Given the description of an element on the screen output the (x, y) to click on. 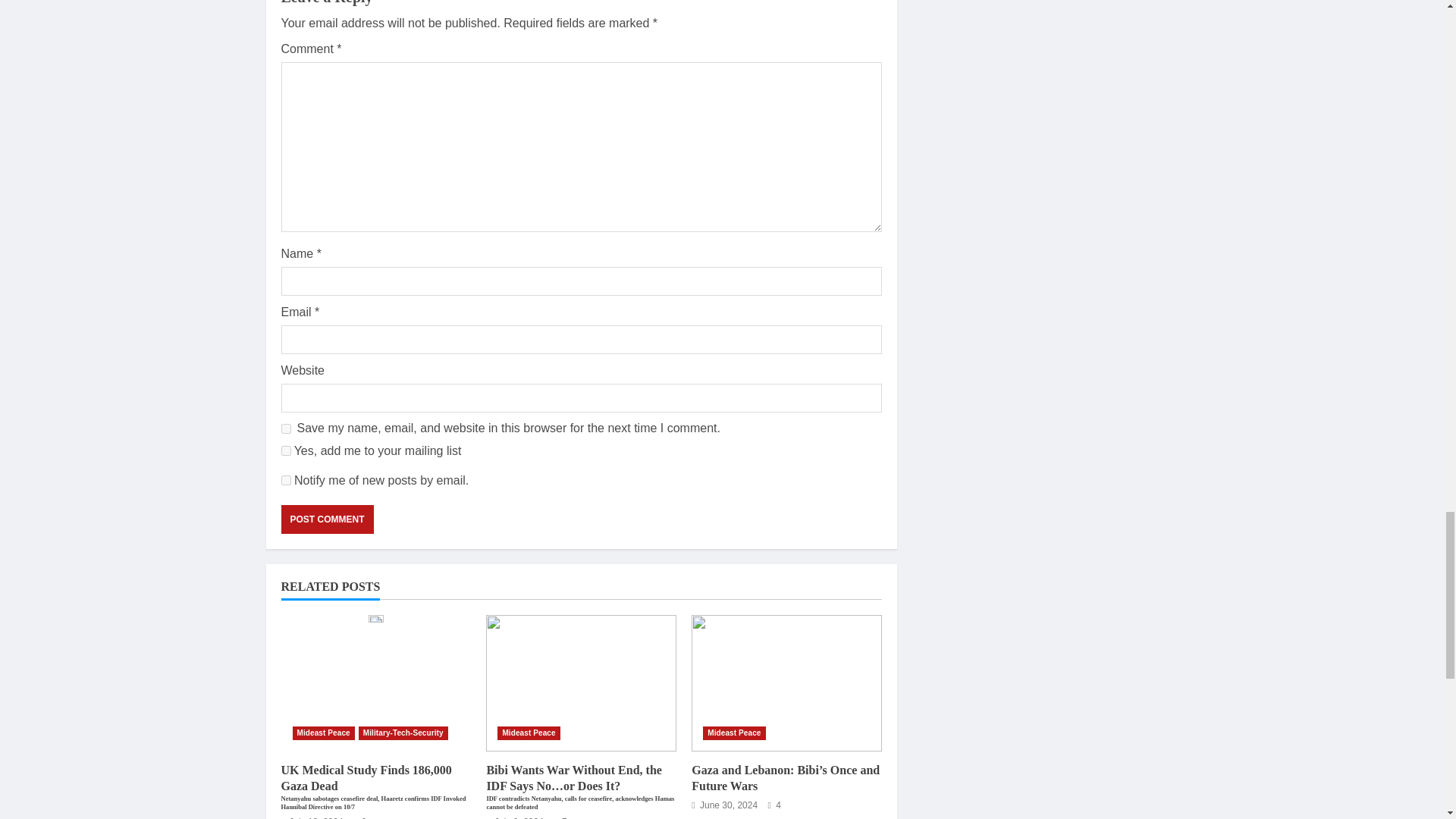
subscribe (285, 480)
Post Comment (326, 519)
Military-Tech-Security (403, 733)
Post Comment (326, 519)
1 (285, 450)
yes (285, 429)
Mideast Peace (323, 733)
